Given the description of an element on the screen output the (x, y) to click on. 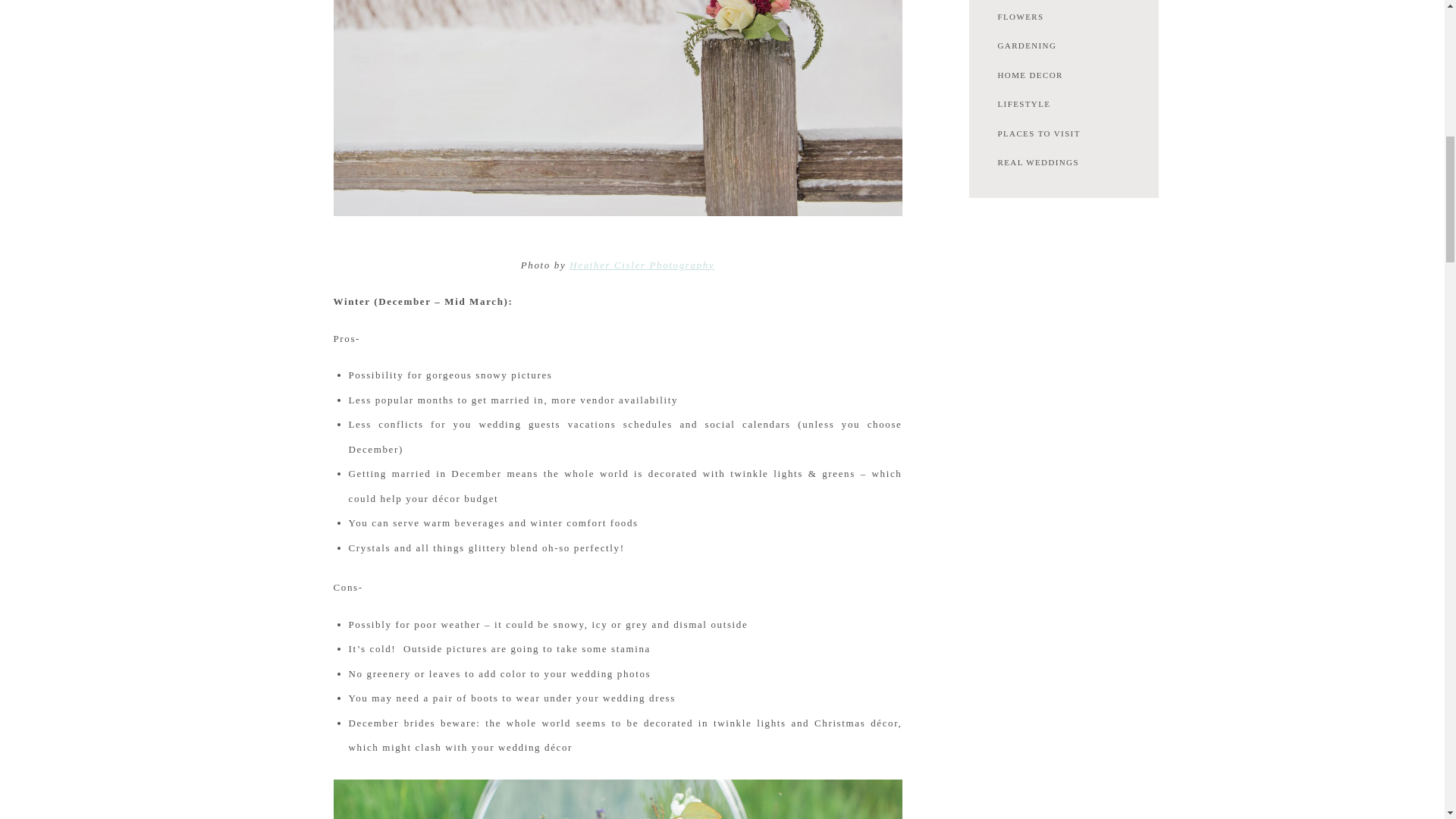
GARDENING (1061, 46)
LIFESTYLE (1061, 104)
HOME DECOR (1061, 76)
PLACES TO VISIT (1061, 134)
FLOWERS (1061, 17)
REAL WEDDINGS (1061, 163)
